Given the description of an element on the screen output the (x, y) to click on. 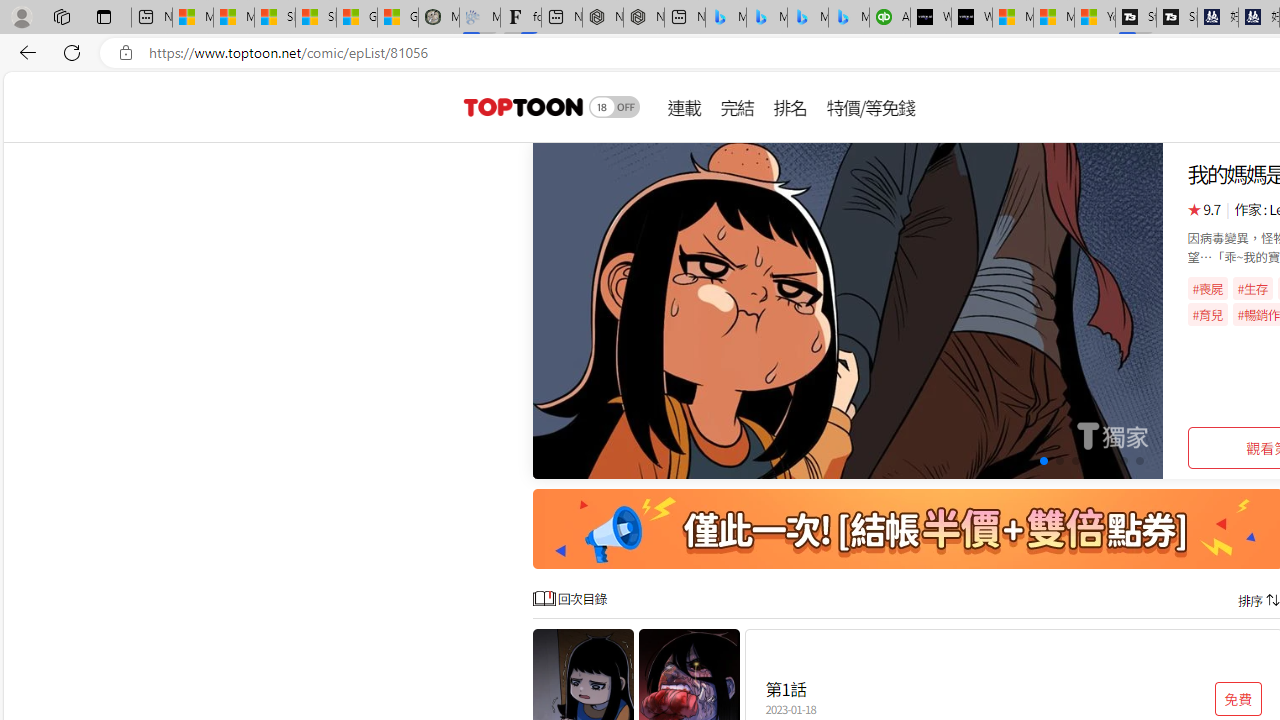
Accounting Software for Accountants, CPAs and Bookkeepers (890, 17)
Class: swiper-slide swiper-slide-prev (847, 310)
Class: swiper-slide swiper-slide-next (847, 310)
Go to slide 4 (1043, 461)
Go to slide 1 (994, 461)
Go to slide 2 (1011, 461)
header (519, 106)
